Given the description of an element on the screen output the (x, y) to click on. 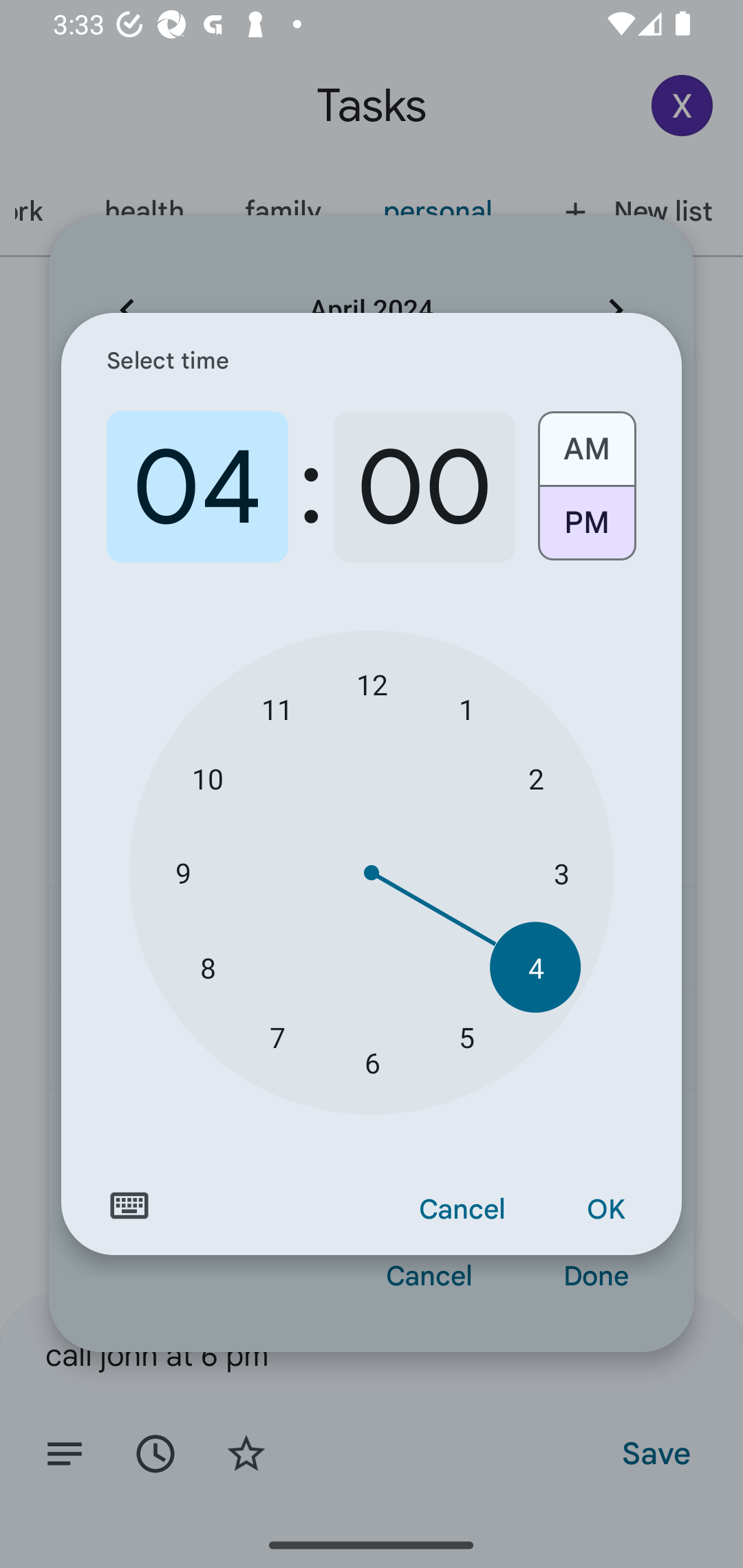
AM (586, 441)
04 4 o'clock (197, 486)
00 0 minutes (424, 486)
PM (586, 529)
12 12 o'clock (371, 683)
11 11 o'clock (276, 708)
1 1 o'clock (466, 708)
10 10 o'clock (207, 778)
2 2 o'clock (535, 778)
9 9 o'clock (182, 872)
3 3 o'clock (561, 872)
8 8 o'clock (207, 966)
4 4 o'clock (535, 966)
7 7 o'clock (276, 1035)
5 5 o'clock (466, 1035)
6 6 o'clock (371, 1062)
Switch to text input mode for the time input. (128, 1205)
Cancel (462, 1209)
OK (605, 1209)
